Given the description of an element on the screen output the (x, y) to click on. 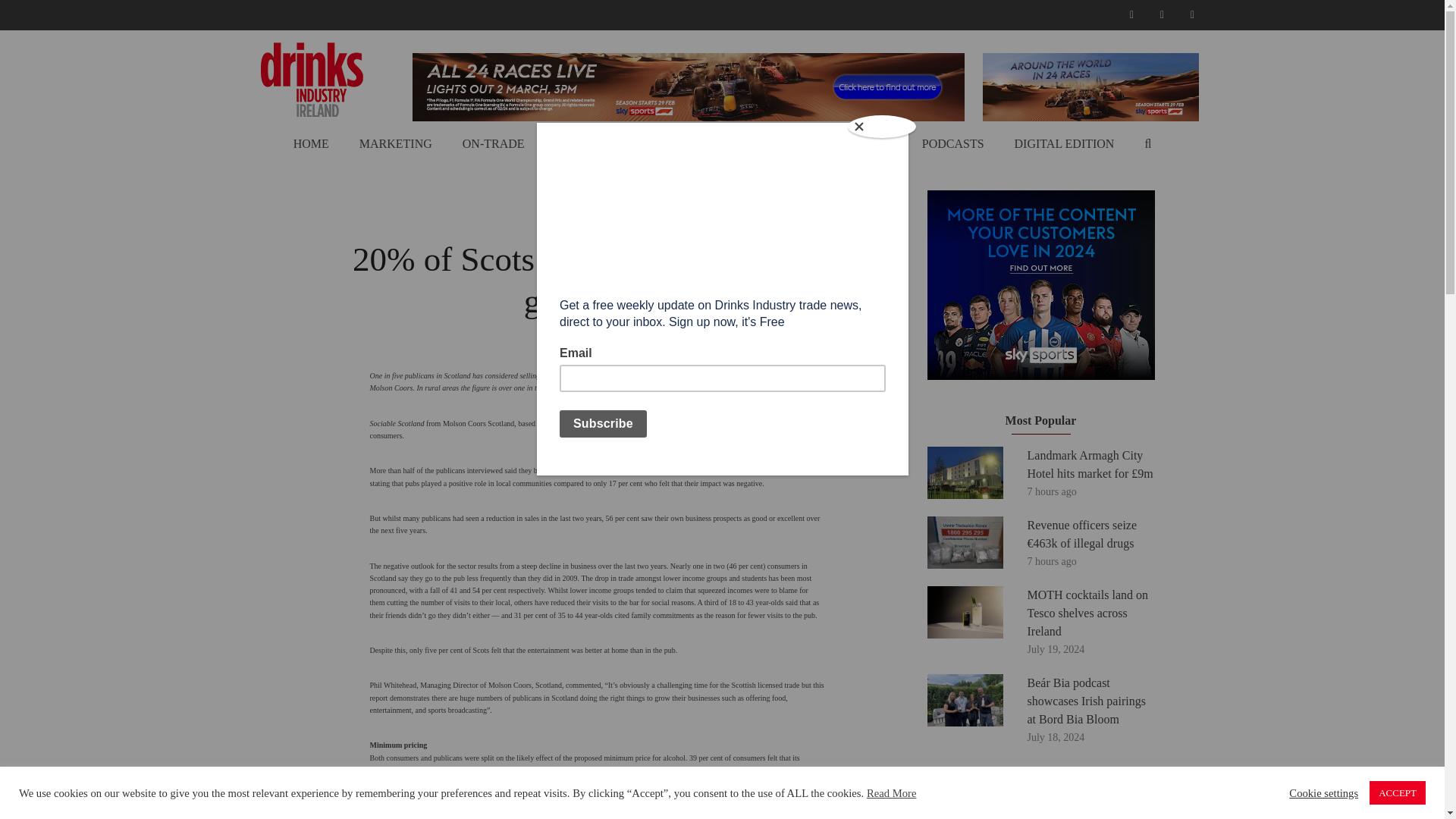
OPINION (676, 144)
PODCASTS (952, 144)
BLOG (874, 144)
Uncategorized (597, 225)
MARKETING (395, 144)
ON-TRADE (494, 144)
HOME (310, 144)
TALKING TRADE (779, 144)
OFF-TRADE (587, 144)
DIGITAL EDITION (1065, 144)
